Given the description of an element on the screen output the (x, y) to click on. 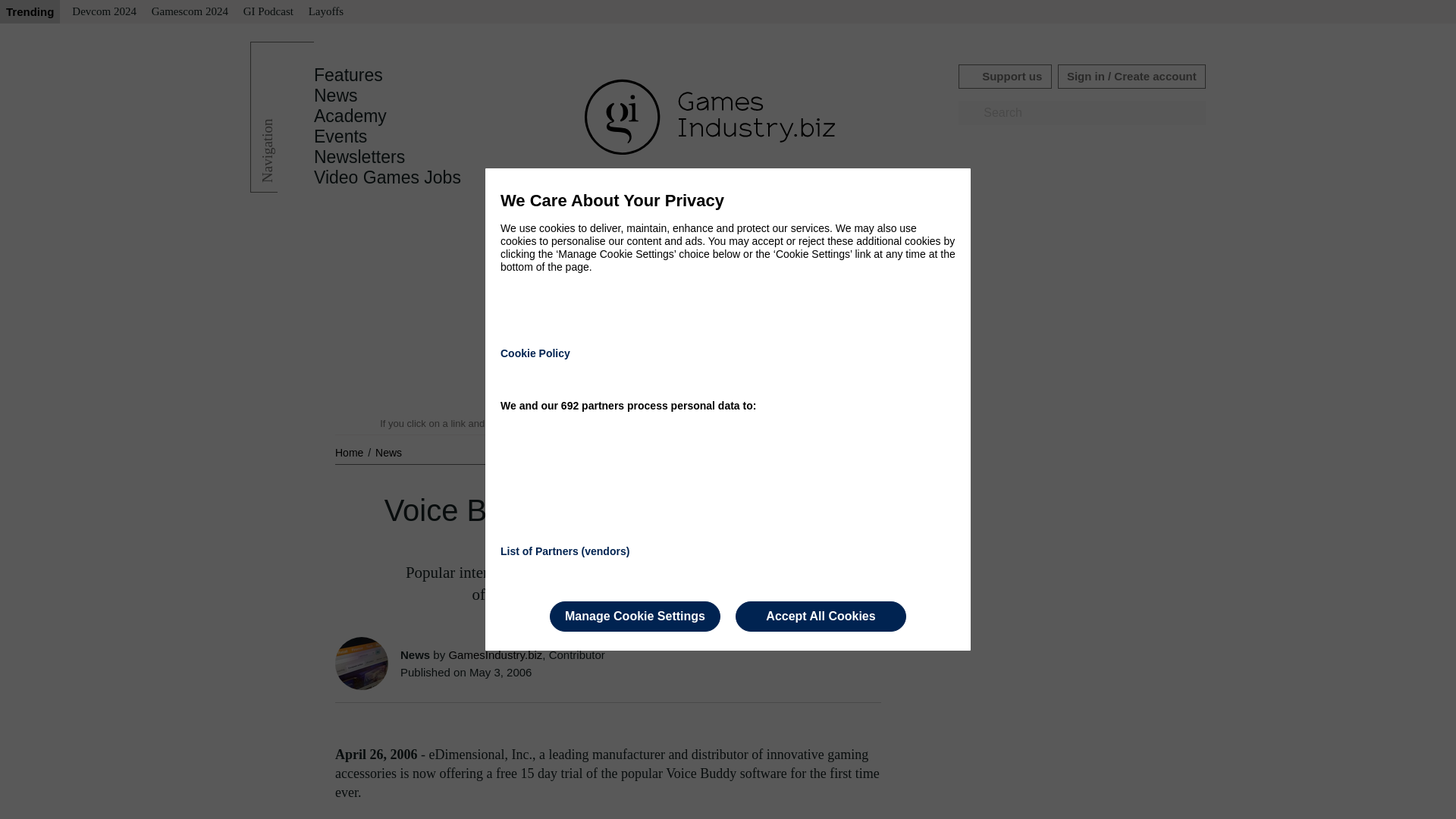
Academy (350, 116)
Layoffs (325, 11)
Devcom 2024 (103, 11)
Gamescom 2024 (189, 11)
Home (350, 452)
Read our editorial policy (781, 423)
Events (340, 136)
Devcom 2024 (103, 11)
GI Podcast (268, 11)
GI Podcast (268, 11)
